Given the description of an element on the screen output the (x, y) to click on. 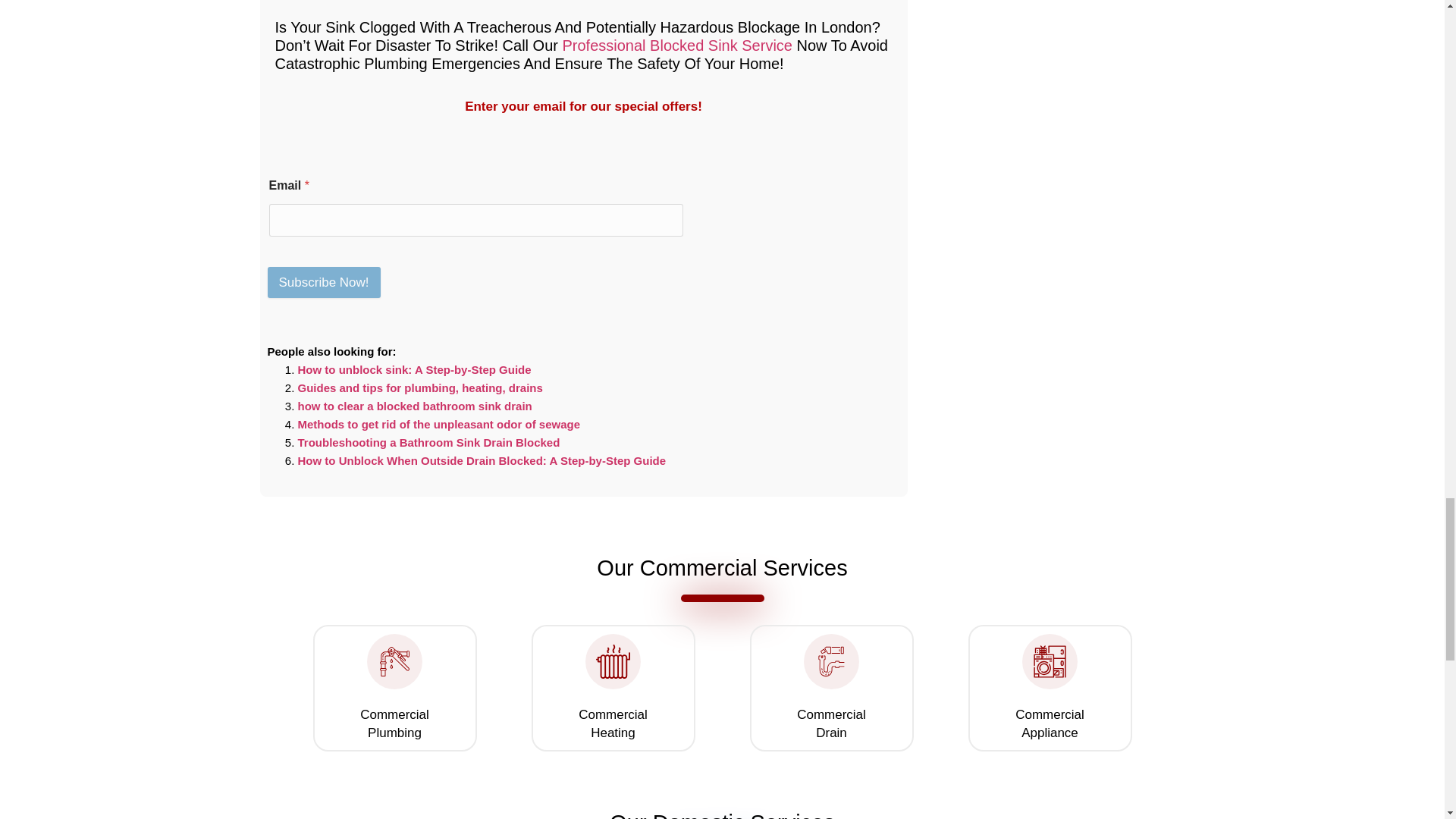
Guides and tips for plumbing, heating, drains (419, 387)
How to unblock sink: A Step-by-Step Guide (414, 369)
Methods to get rid of the unpleasant odor of sewage (438, 423)
how to clear a blocked bathroom sink drain (414, 405)
Troubleshooting a Bathroom Sink Drain Blocked (428, 441)
